Given the description of an element on the screen output the (x, y) to click on. 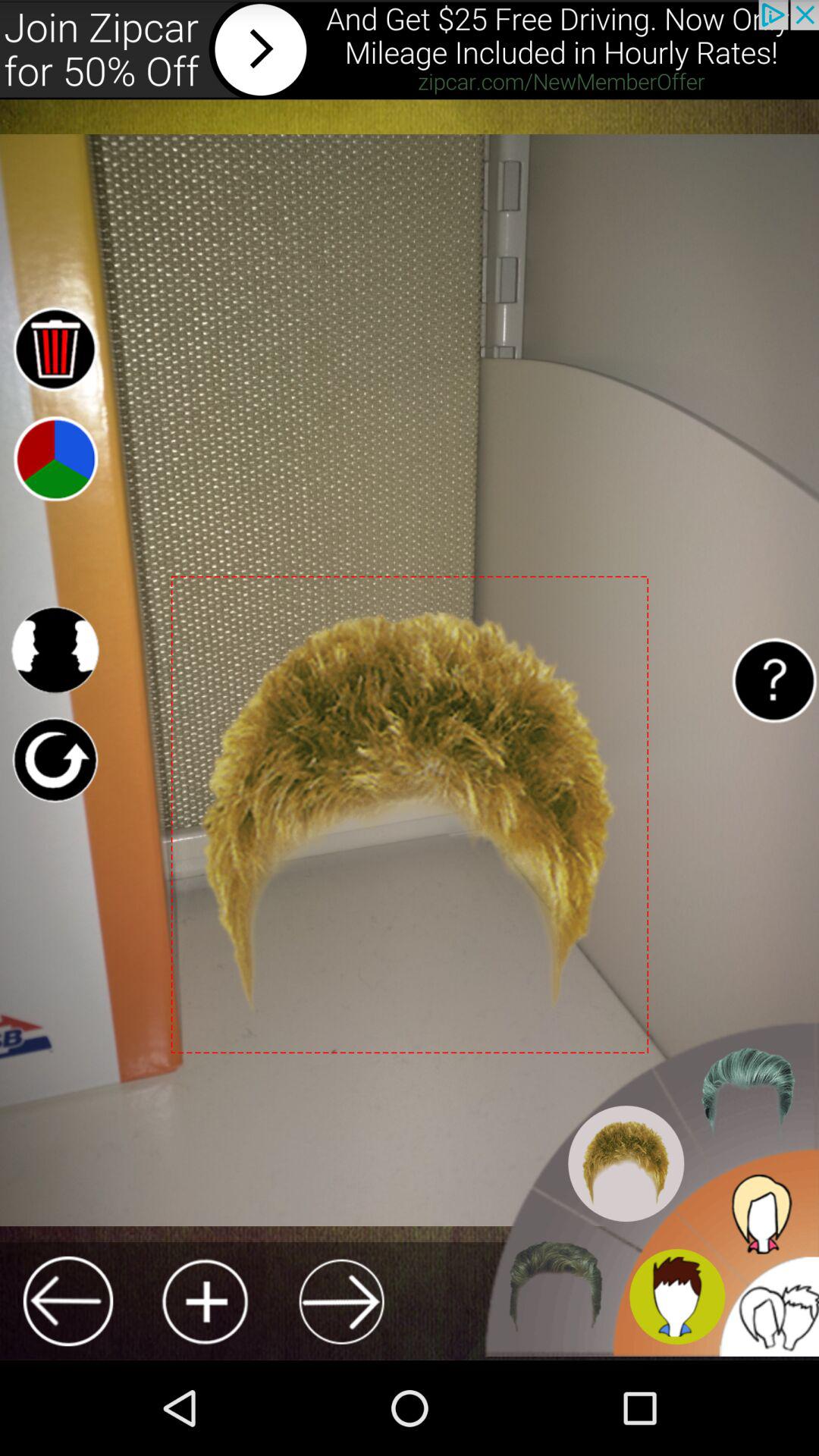
get help (774, 680)
